Given the description of an element on the screen output the (x, y) to click on. 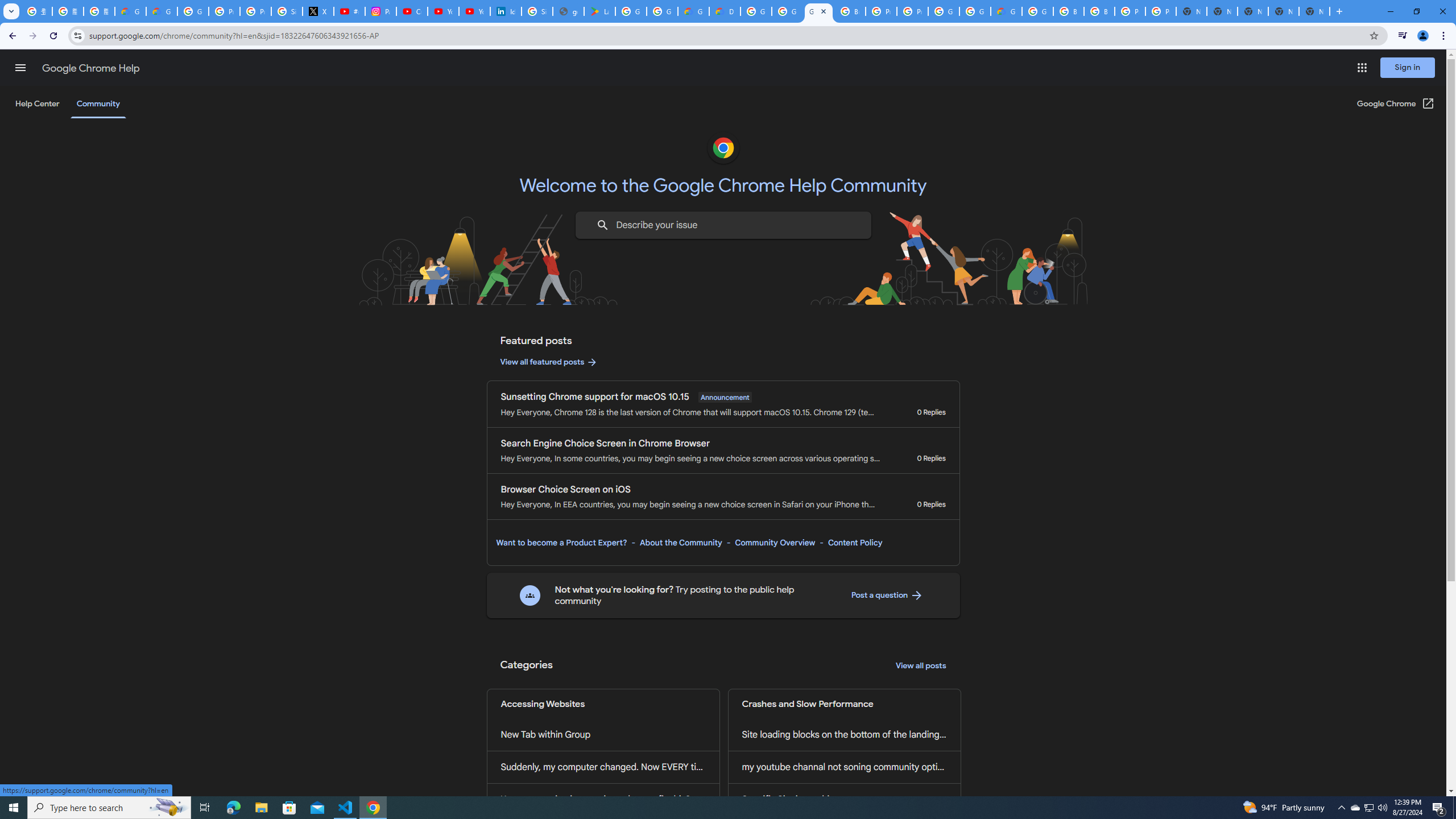
Privacy Help Center - Policies Help (223, 11)
Google Chrome Community (818, 11)
Google Chrome Help (90, 68)
Google Cloud Estimate Summary (1005, 11)
Community Overview (775, 542)
Government | Google Cloud (693, 11)
Last Shelter: Survival - Apps on Google Play (599, 11)
